Given the description of an element on the screen output the (x, y) to click on. 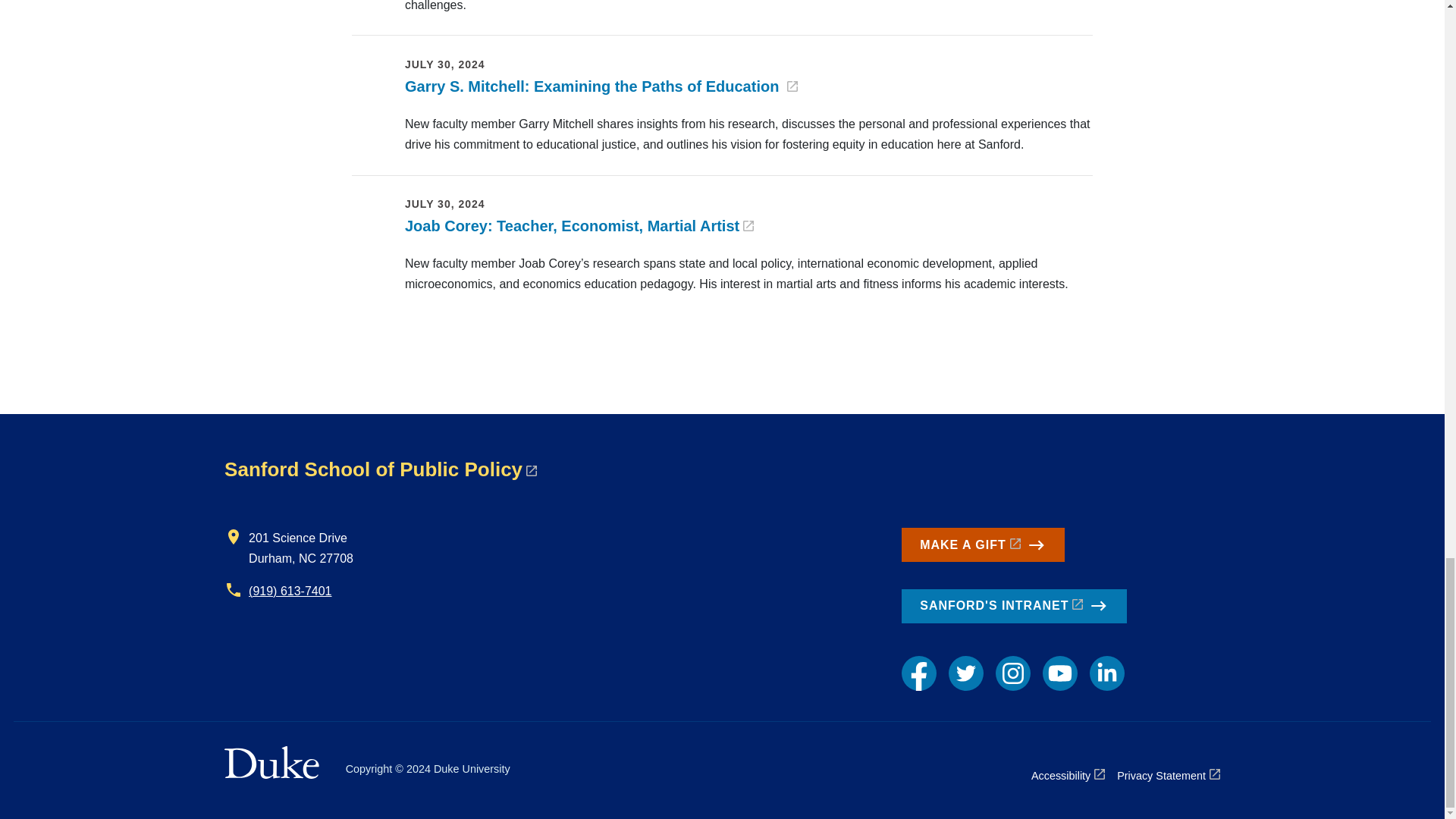
LinkedIn link (1106, 673)
Twitter link (966, 673)
Accessibility (1067, 775)
YouTube link (1059, 673)
Sanford School of Public Policy (380, 468)
Facebook link (918, 673)
Privacy Statement (1168, 775)
Joab Corey: Teacher, Economist, Martial Artist (579, 225)
Instagram link (1012, 673)
MAKE A GIFT (982, 544)
Garry S. Mitchell: Examining the Paths of Education (600, 86)
SANFORD'S INTRANET (1013, 606)
